Given the description of an element on the screen output the (x, y) to click on. 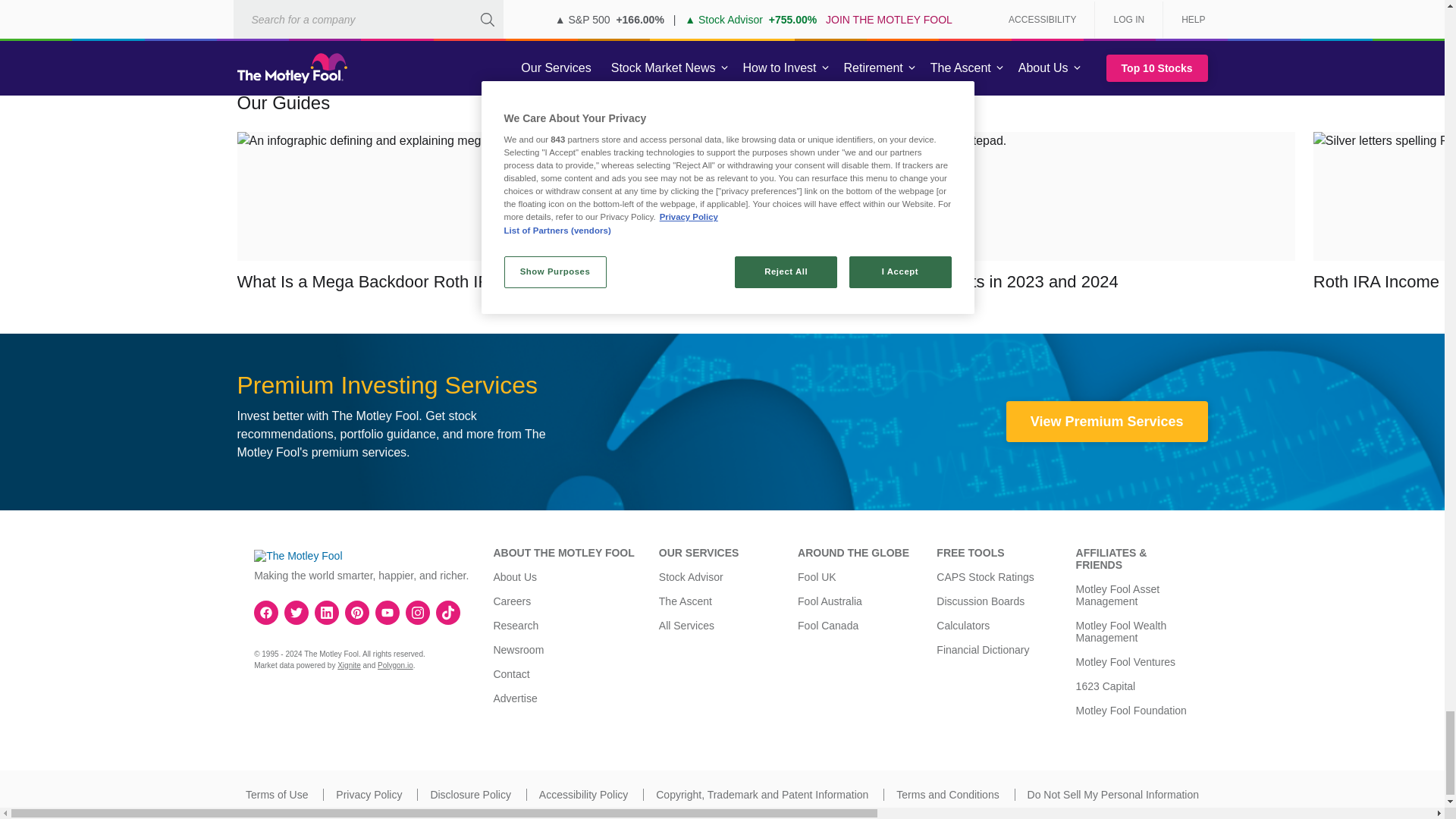
Disclosure Policy (470, 794)
Copyright, Trademark and Patent Information (761, 794)
Accessibility Policy (582, 794)
Terms and Conditions (947, 794)
Privacy Policy (368, 794)
Terms of Use (276, 794)
Do Not Sell My Personal Information. (1112, 794)
